Given the description of an element on the screen output the (x, y) to click on. 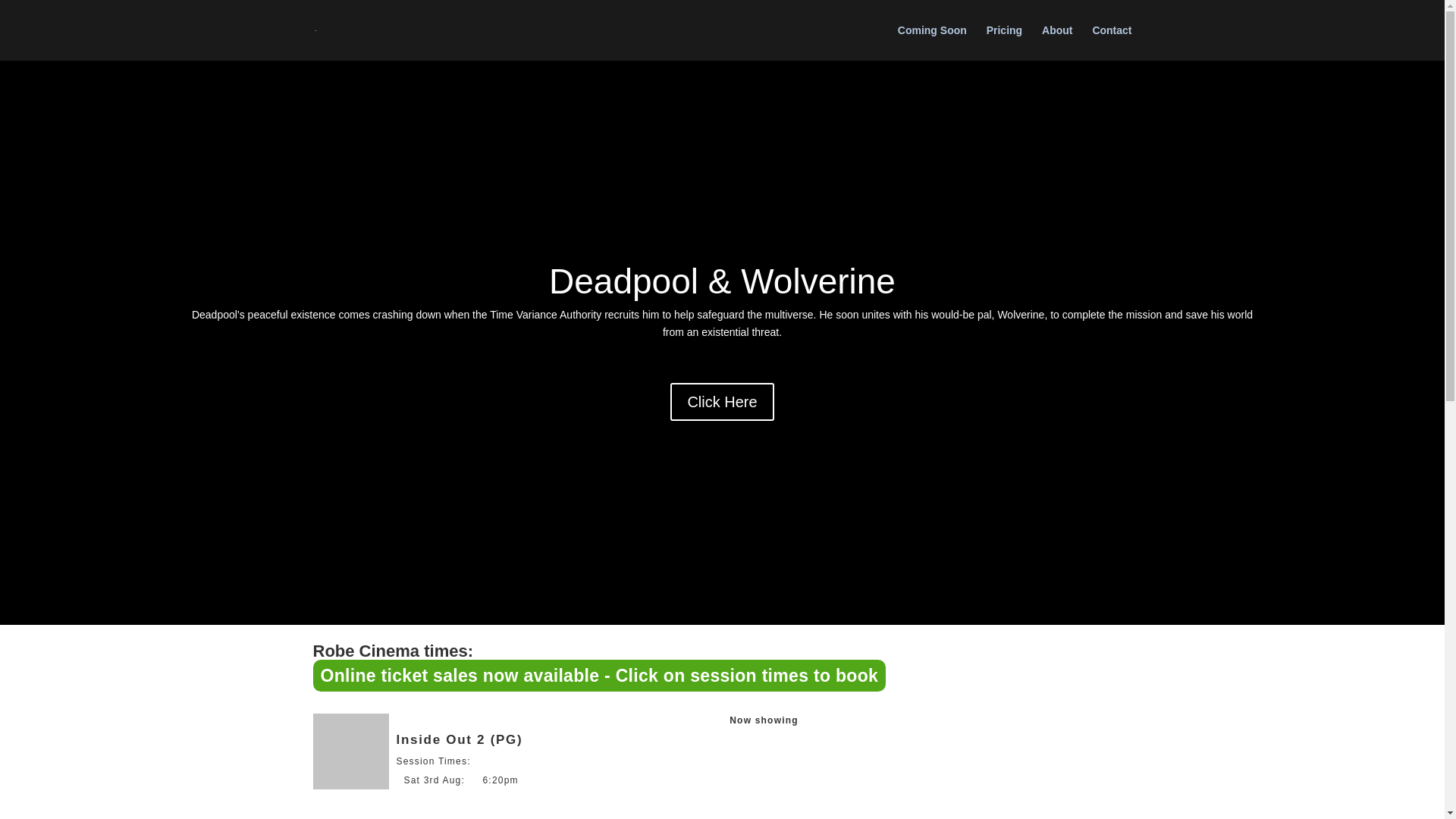
Coming Soon (932, 42)
Contact (1111, 42)
Pricing (1004, 42)
6:20pm (499, 779)
Now showing (763, 719)
Inside Out 2 (350, 751)
